Given the description of an element on the screen output the (x, y) to click on. 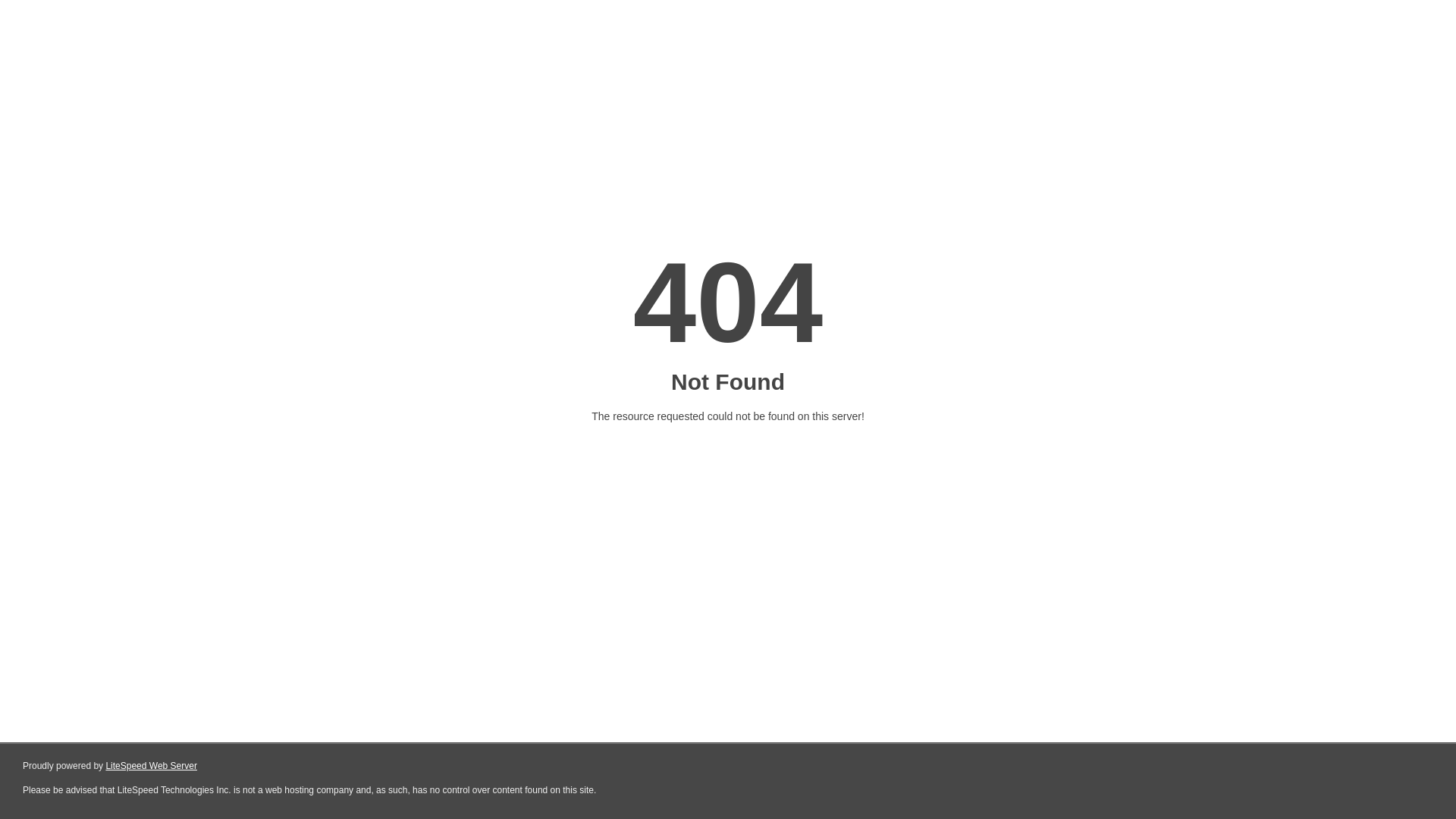
LiteSpeed Web Server Element type: text (151, 765)
